Given the description of an element on the screen output the (x, y) to click on. 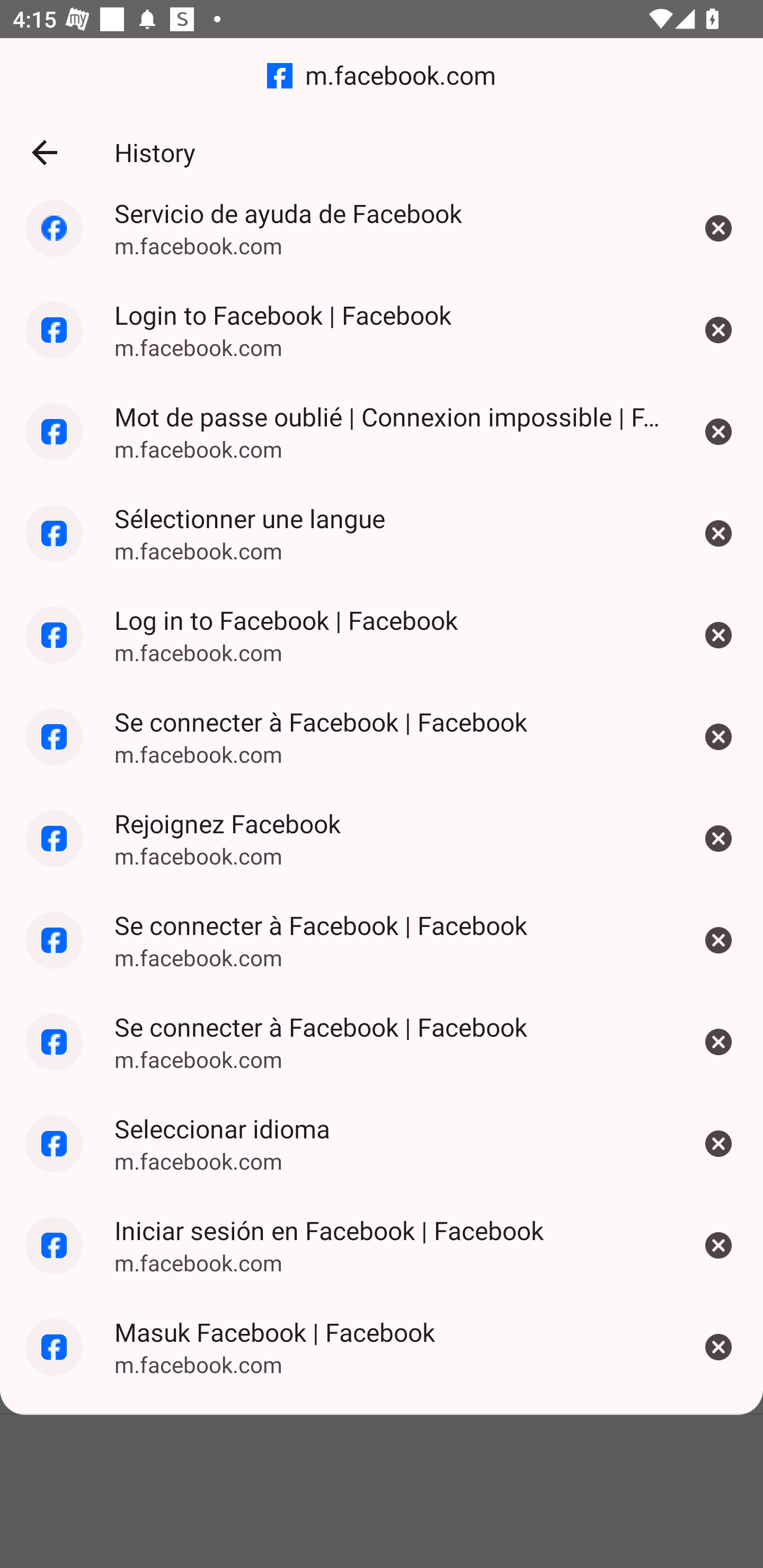
m.facebook.com (381, 75)
Back (44, 152)
Servicio de ayuda de Facebook Remove (718, 235)
Login to Facebook | Facebook Remove (718, 330)
Sélectionner une langue Remove (718, 533)
Log in to Facebook | Facebook Remove (718, 635)
Se connecter à Facebook | Facebook Remove (718, 736)
Rejoignez Facebook Remove (718, 838)
Se connecter à Facebook | Facebook Remove (718, 939)
Se connecter à Facebook | Facebook Remove (718, 1041)
Seleccionar idioma Remove (718, 1143)
Iniciar sesión en Facebook | Facebook Remove (718, 1245)
Masuk Facebook | Facebook Remove (718, 1347)
